Given the description of an element on the screen output the (x, y) to click on. 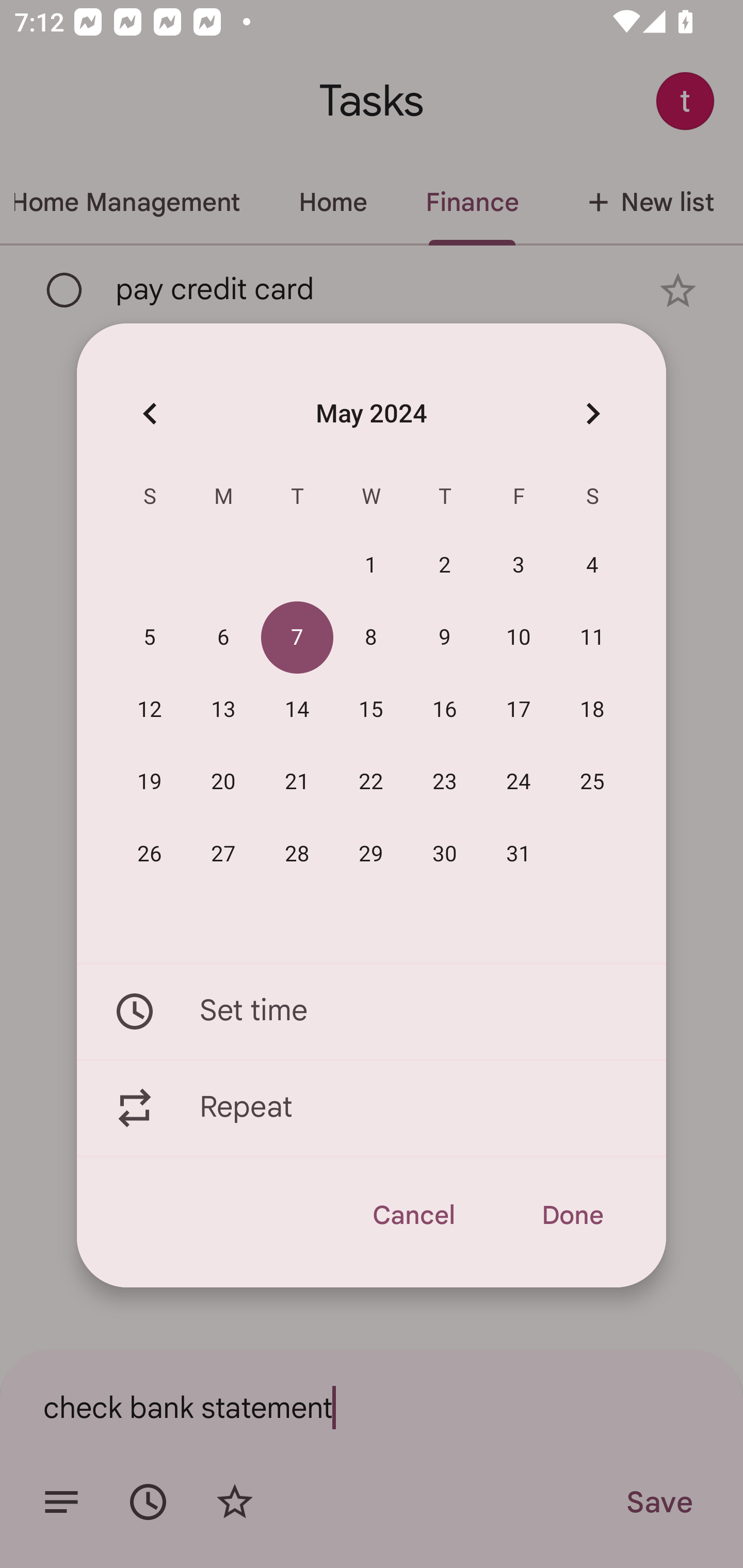
Previous month (149, 413)
Next month (592, 413)
1 01 May 2024 (370, 565)
2 02 May 2024 (444, 565)
3 03 May 2024 (518, 565)
4 04 May 2024 (592, 565)
5 05 May 2024 (149, 638)
6 06 May 2024 (223, 638)
7 07 May 2024 (297, 638)
8 08 May 2024 (370, 638)
9 09 May 2024 (444, 638)
10 10 May 2024 (518, 638)
11 11 May 2024 (592, 638)
12 12 May 2024 (149, 710)
13 13 May 2024 (223, 710)
14 14 May 2024 (297, 710)
15 15 May 2024 (370, 710)
16 16 May 2024 (444, 710)
17 17 May 2024 (518, 710)
18 18 May 2024 (592, 710)
19 19 May 2024 (149, 782)
20 20 May 2024 (223, 782)
21 21 May 2024 (297, 782)
22 22 May 2024 (370, 782)
23 23 May 2024 (444, 782)
24 24 May 2024 (518, 782)
25 25 May 2024 (592, 782)
26 26 May 2024 (149, 854)
27 27 May 2024 (223, 854)
28 28 May 2024 (297, 854)
29 29 May 2024 (370, 854)
30 30 May 2024 (444, 854)
31 31 May 2024 (518, 854)
Set time (371, 1011)
Repeat (371, 1108)
Cancel (412, 1215)
Done (571, 1215)
